Given the description of an element on the screen output the (x, y) to click on. 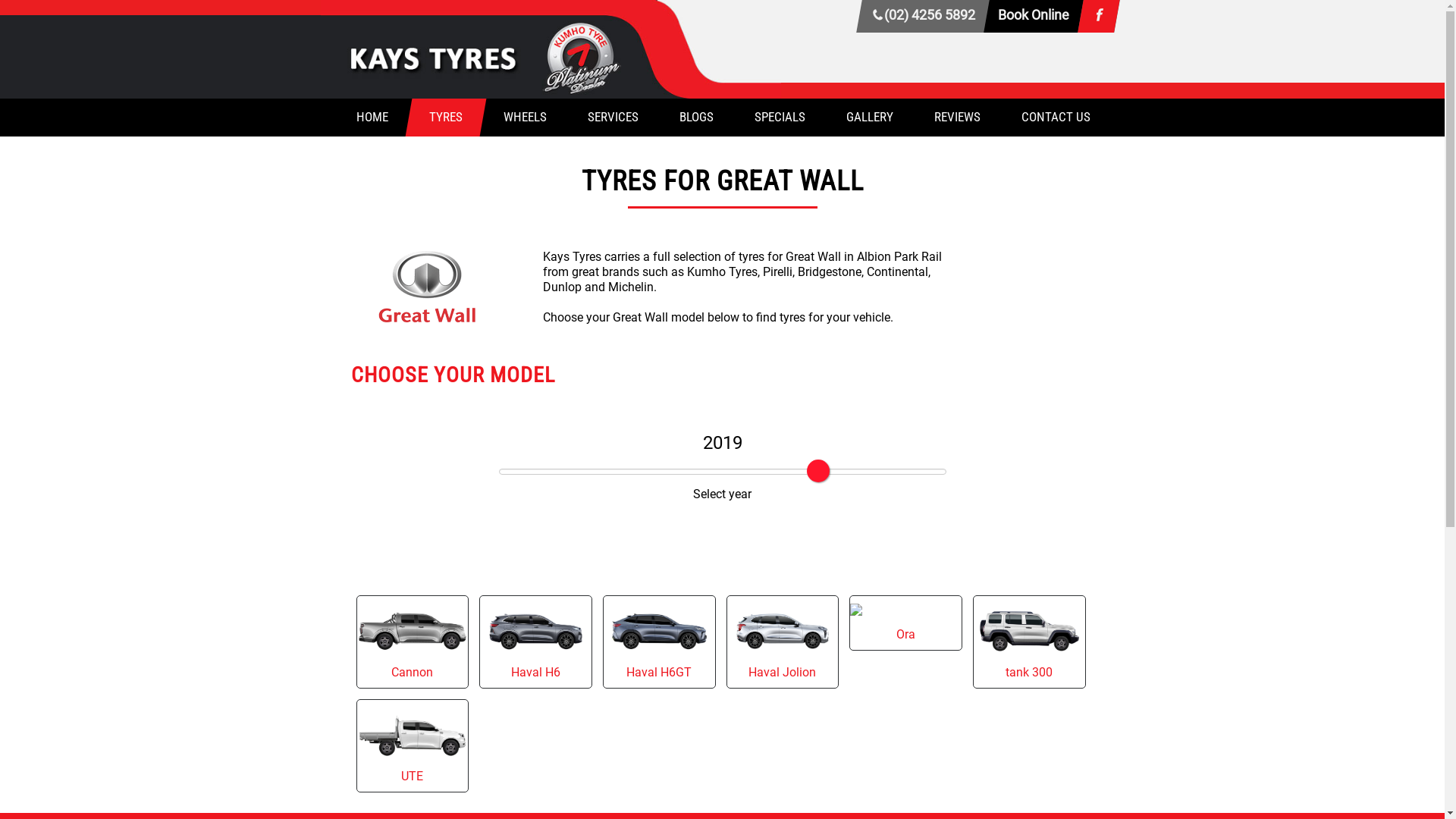
SERVICES Element type: text (609, 117)
(02) 4256 5892 Element type: text (919, 16)
CONTACT US Element type: text (1052, 117)
GALLERY Element type: text (866, 117)
Book Online Element type: text (1030, 16)
Haval H6 Element type: text (535, 641)
BLOGS Element type: text (692, 117)
UTE Element type: text (412, 745)
Ora Element type: text (905, 622)
Great Wall  Tyres Element type: hover (426, 287)
WHEELS Element type: text (521, 117)
Cannon Element type: text (412, 641)
Haval Jolion Element type: text (782, 641)
REVIEWS Element type: text (953, 117)
Haval H6GT Element type: text (658, 641)
HOME Element type: text (368, 117)
tank 300 Element type: text (1028, 641)
SPECIALS Element type: text (776, 117)
TYRES Element type: text (441, 117)
